Given the description of an element on the screen output the (x, y) to click on. 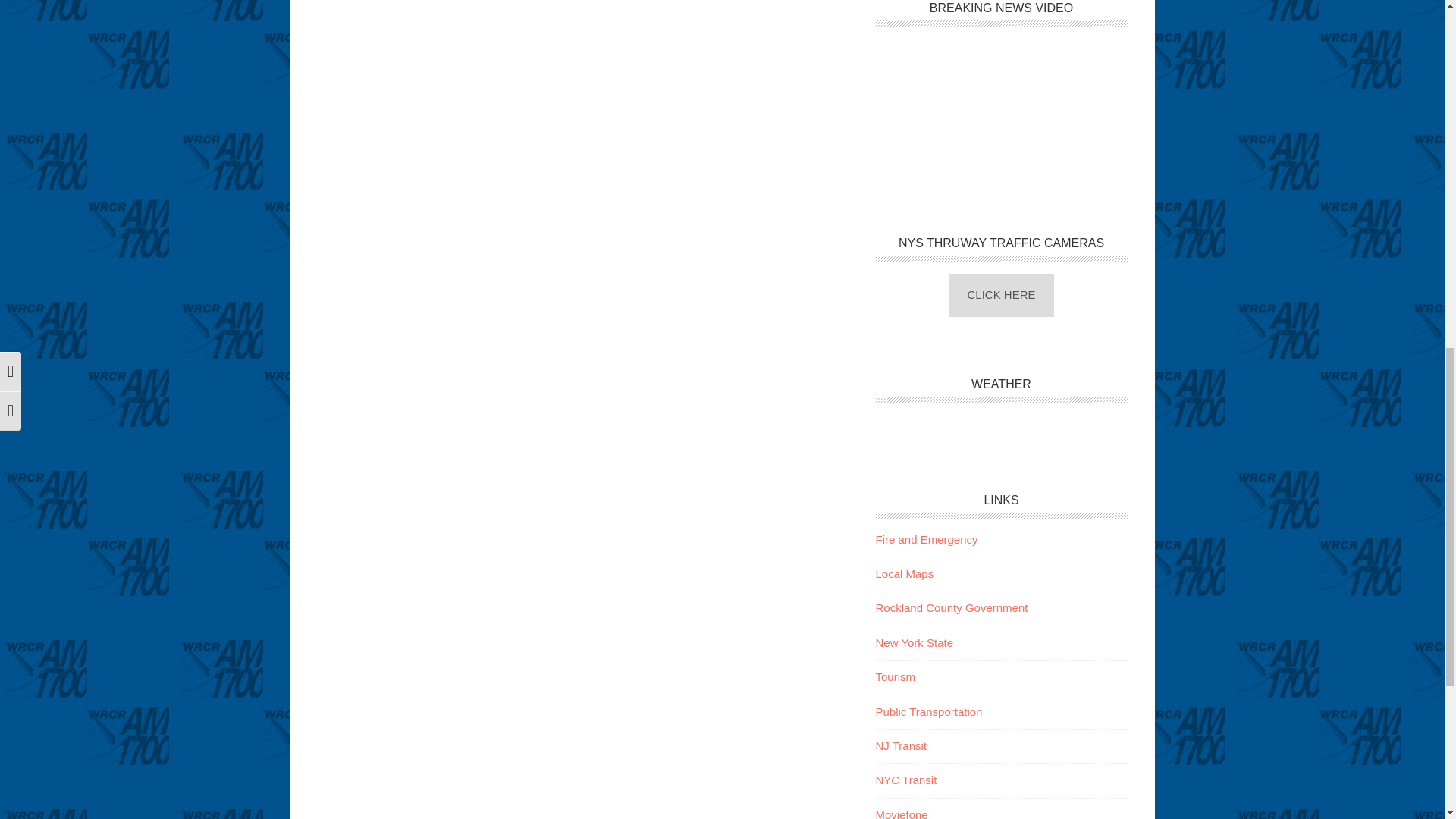
Local Maps (904, 573)
CLICK HERE (1000, 294)
CLICK HERE (1000, 294)
Tourism (895, 676)
Moviefone (901, 813)
Public Transportation (928, 711)
NYC Transit (905, 779)
NJ Transit (900, 745)
New York State (914, 642)
Rockland County Government (951, 607)
